Given the description of an element on the screen output the (x, y) to click on. 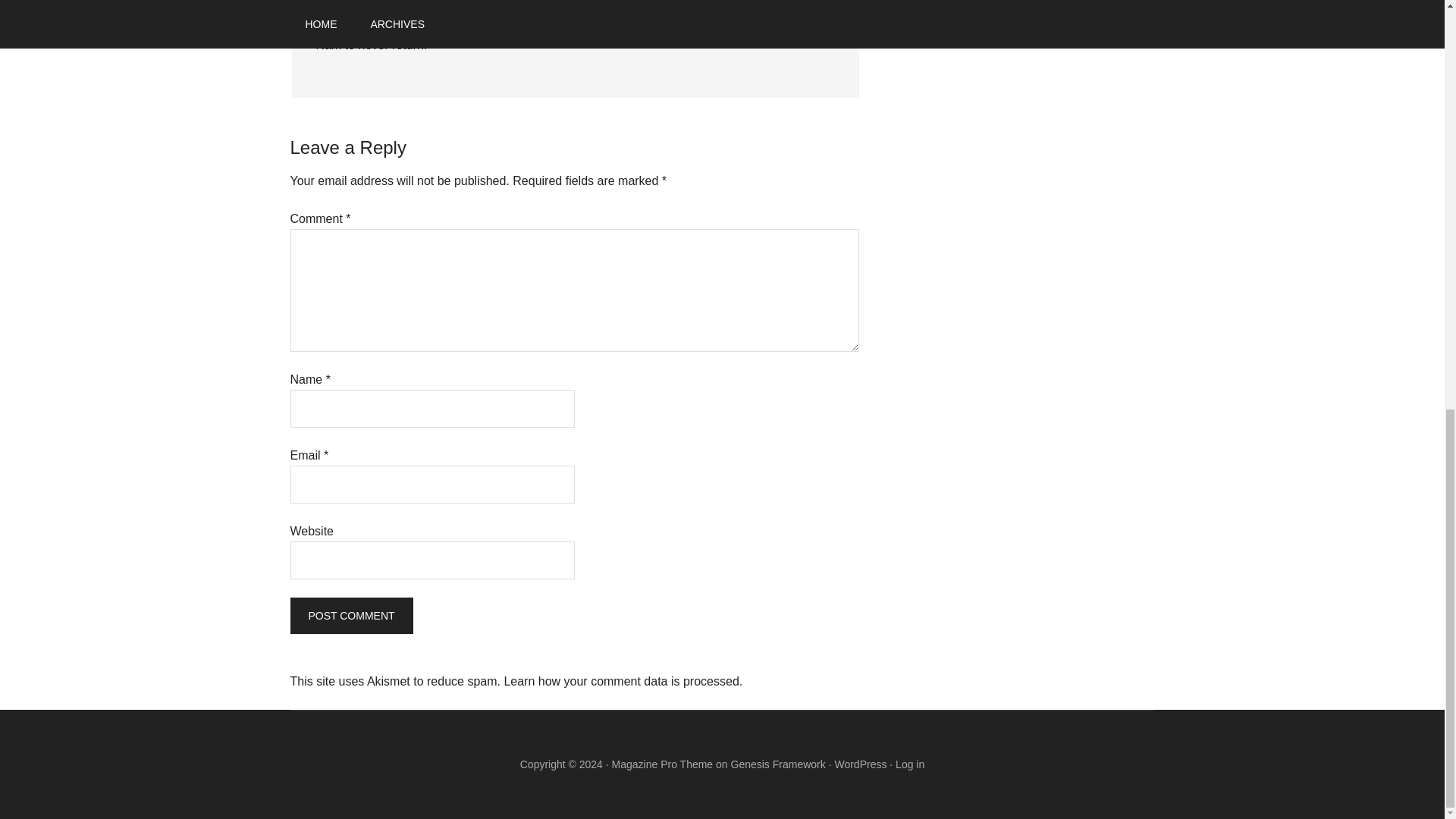
Post Comment (350, 615)
Genesis Framework (777, 764)
Log in (909, 764)
WordPress (860, 764)
Learn how your comment data is processed (620, 680)
Magazine Pro Theme (662, 764)
Post Comment (350, 615)
